Given the description of an element on the screen output the (x, y) to click on. 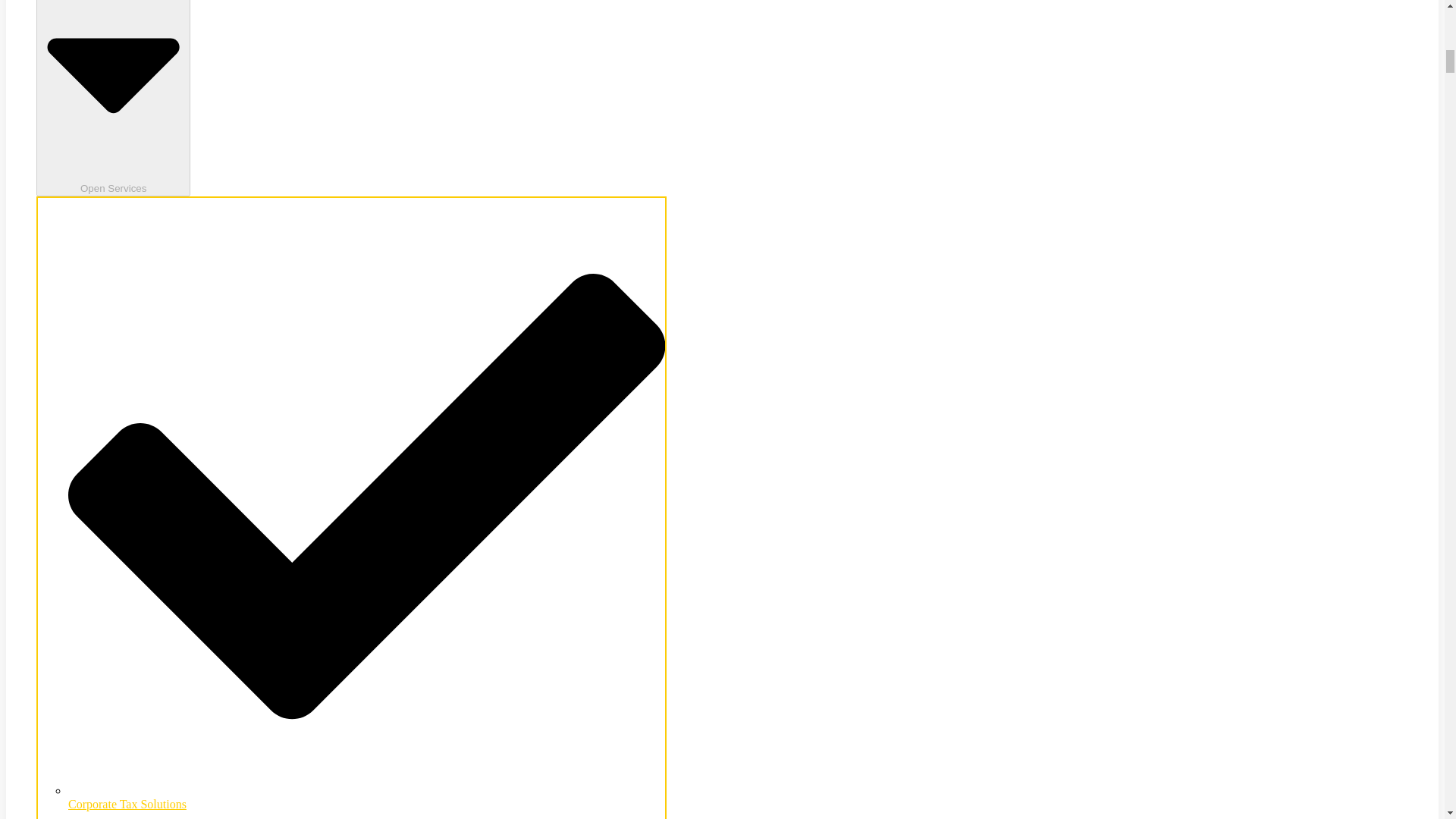
Corporate Tax Solutions (366, 796)
